Given the description of an element on the screen output the (x, y) to click on. 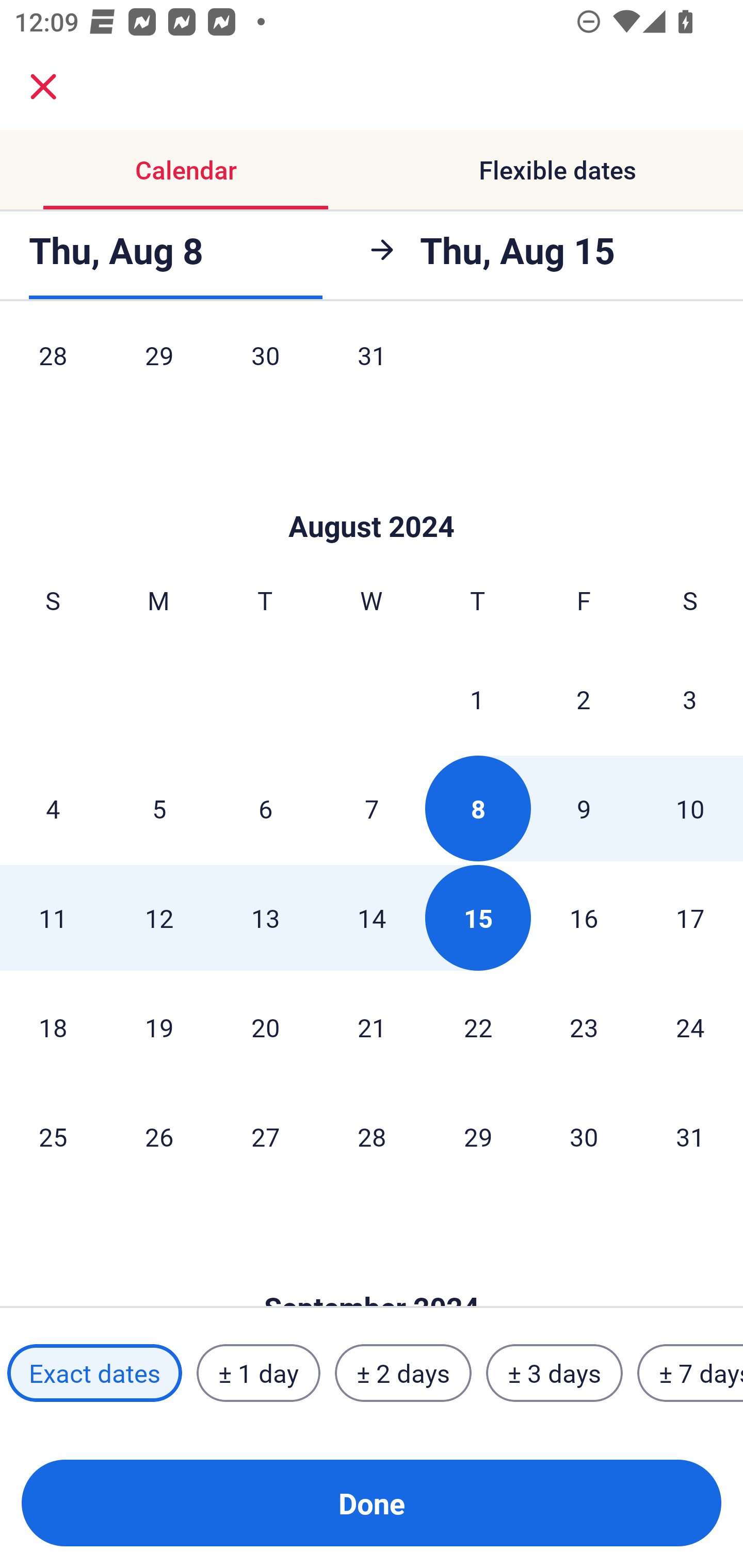
close. (43, 86)
Flexible dates (557, 170)
28 Sunday, July 28, 2024 (53, 368)
29 Monday, July 29, 2024 (159, 368)
30 Tuesday, July 30, 2024 (265, 368)
31 Wednesday, July 31, 2024 (371, 368)
Skip to Done (371, 495)
1 Thursday, August 1, 2024 (477, 699)
2 Friday, August 2, 2024 (583, 699)
3 Saturday, August 3, 2024 (689, 699)
4 Sunday, August 4, 2024 (53, 807)
5 Monday, August 5, 2024 (159, 807)
6 Tuesday, August 6, 2024 (265, 807)
7 Wednesday, August 7, 2024 (371, 807)
16 Friday, August 16, 2024 (584, 917)
17 Saturday, August 17, 2024 (690, 917)
18 Sunday, August 18, 2024 (53, 1026)
19 Monday, August 19, 2024 (159, 1026)
20 Tuesday, August 20, 2024 (265, 1026)
21 Wednesday, August 21, 2024 (371, 1026)
22 Thursday, August 22, 2024 (477, 1026)
23 Friday, August 23, 2024 (584, 1026)
24 Saturday, August 24, 2024 (690, 1026)
25 Sunday, August 25, 2024 (53, 1136)
26 Monday, August 26, 2024 (159, 1136)
27 Tuesday, August 27, 2024 (265, 1136)
28 Wednesday, August 28, 2024 (371, 1136)
29 Thursday, August 29, 2024 (477, 1136)
30 Friday, August 30, 2024 (584, 1136)
31 Saturday, August 31, 2024 (690, 1136)
Exact dates (94, 1372)
± 1 day (258, 1372)
± 2 days (403, 1372)
± 3 days (553, 1372)
± 7 days (690, 1372)
Done (371, 1502)
